Given the description of an element on the screen output the (x, y) to click on. 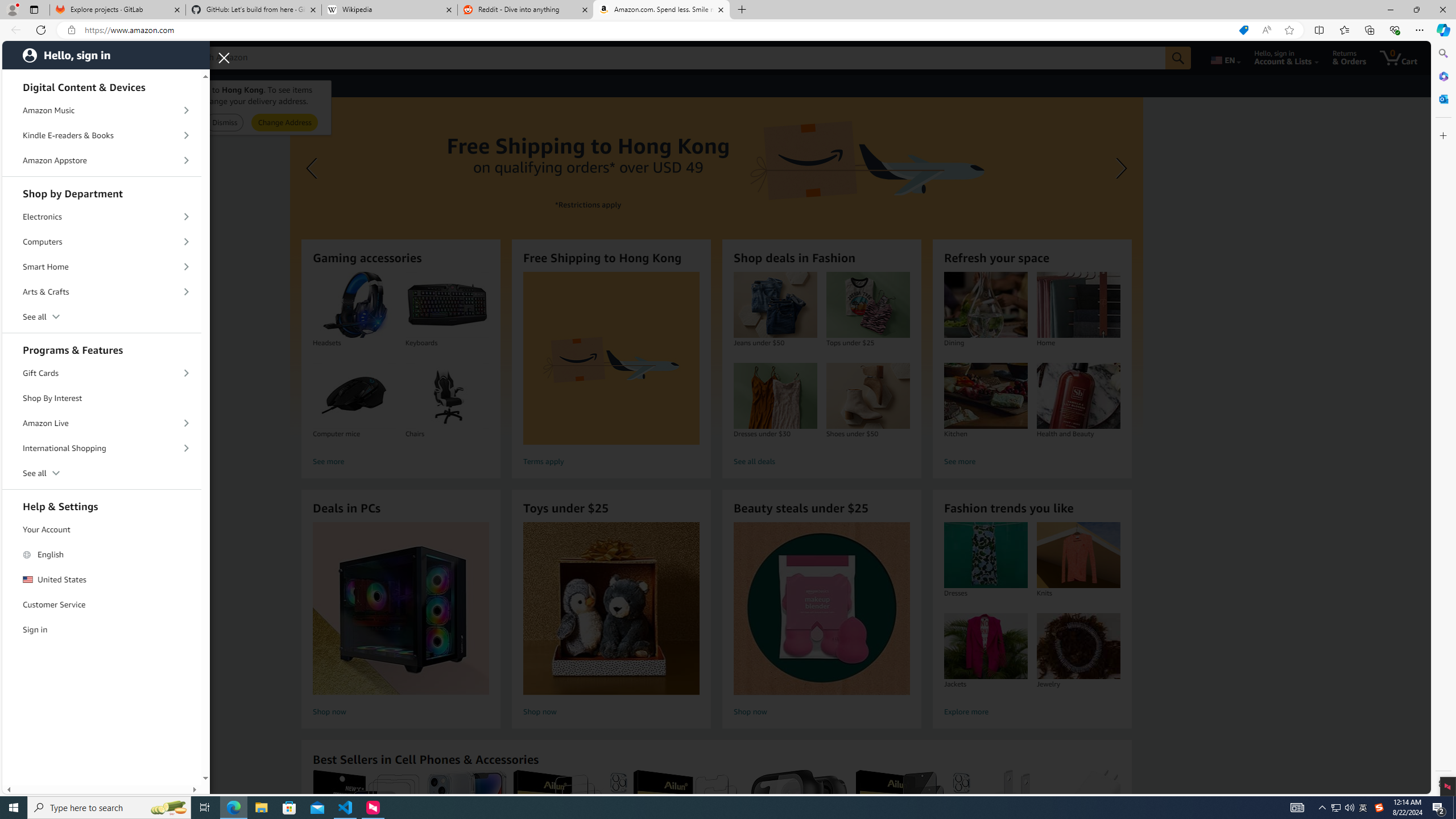
International Shopping (101, 448)
Your Account (101, 529)
Shop by Department (101, 191)
Side bar (1443, 418)
Customer Service (101, 604)
Computers (101, 241)
Customize (1442, 135)
United States (101, 579)
Programs & Features (101, 348)
Gift Cards (101, 373)
